Given the description of an element on the screen output the (x, y) to click on. 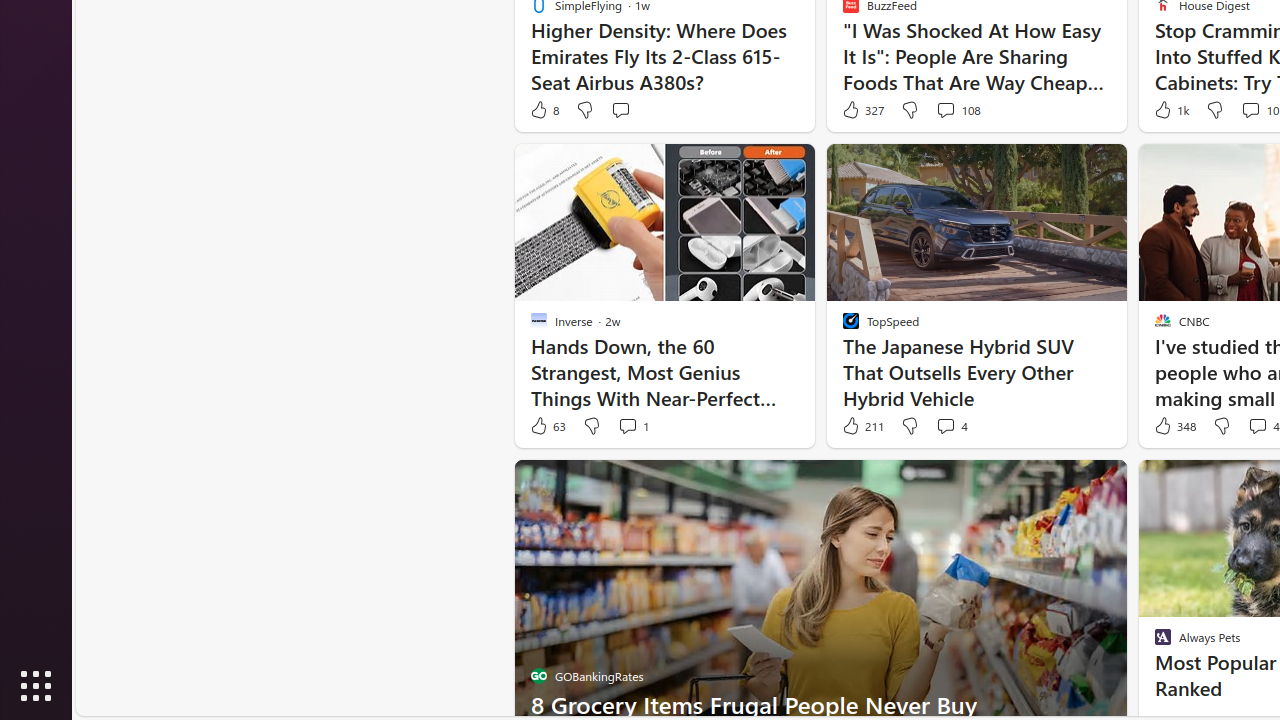
View comments 4 Comment Element type: link (951, 426)
1k Like Element type: toggle-button (1170, 110)
Start the conversation Element type: link (620, 110)
63 Like Element type: toggle-button (547, 426)
Show Applications Element type: toggle-button (36, 686)
